Given the description of an element on the screen output the (x, y) to click on. 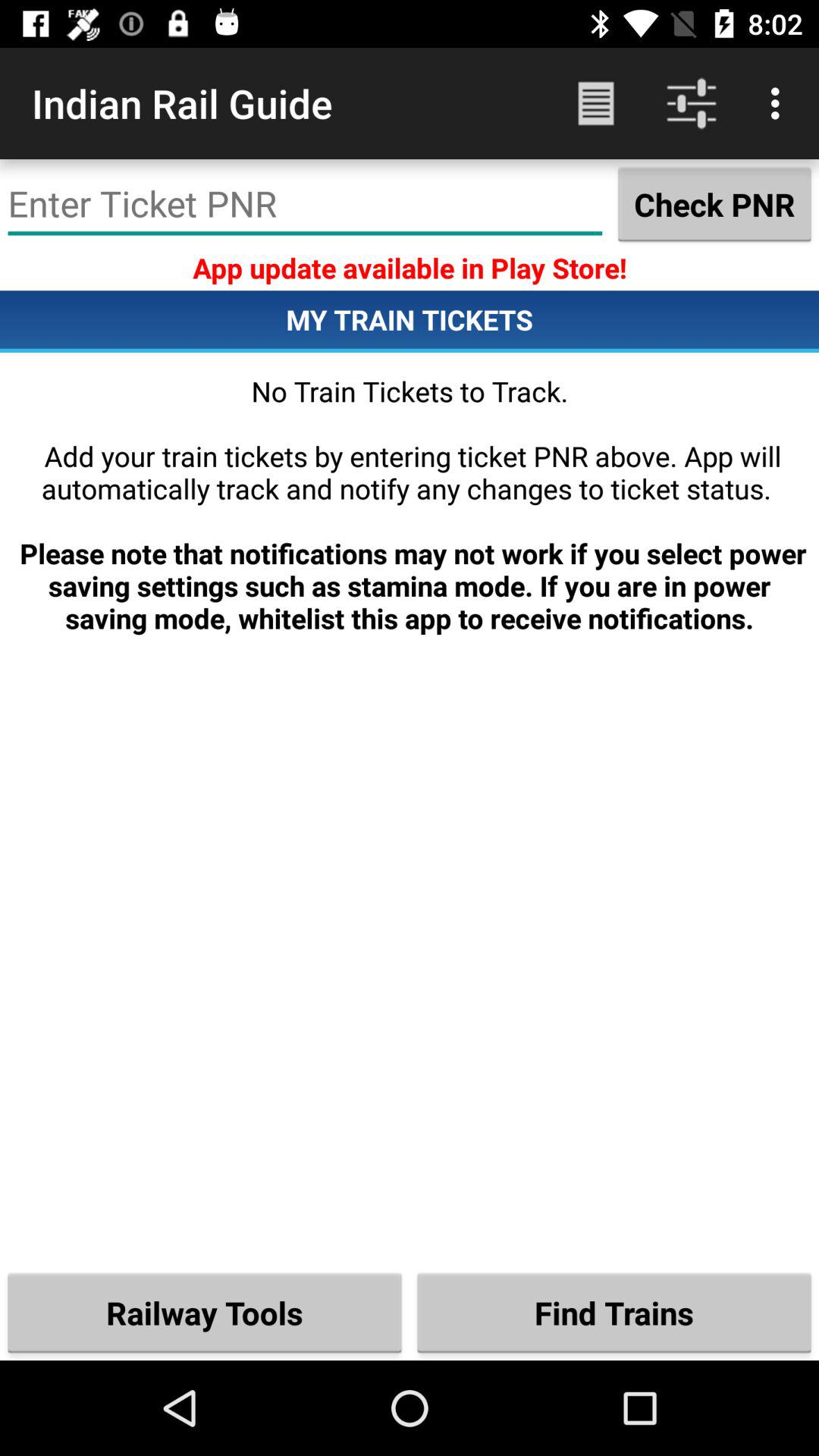
enter ticket pnr (305, 204)
